Given the description of an element on the screen output the (x, y) to click on. 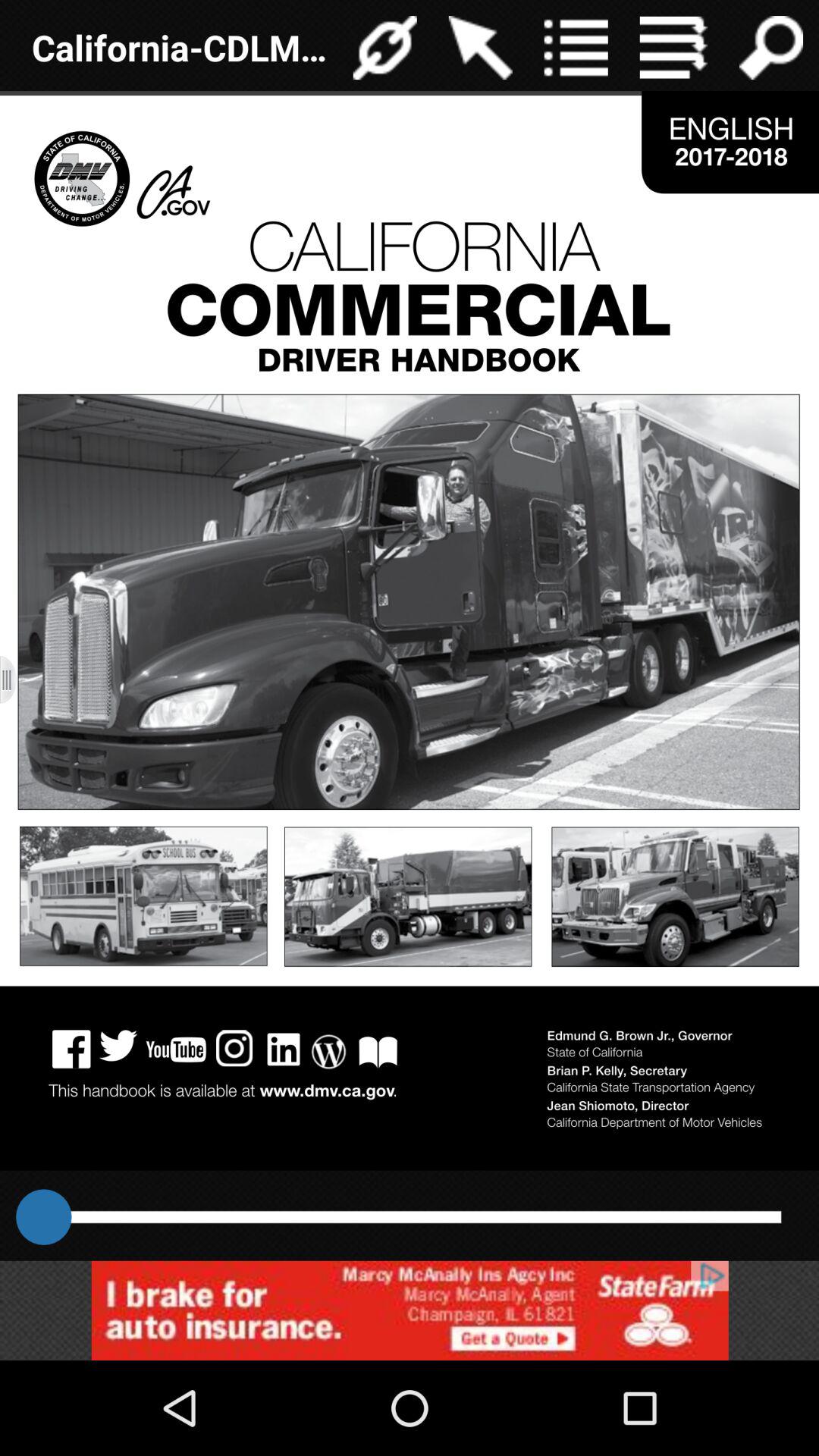
auto insurance advertisement (409, 1310)
